Given the description of an element on the screen output the (x, y) to click on. 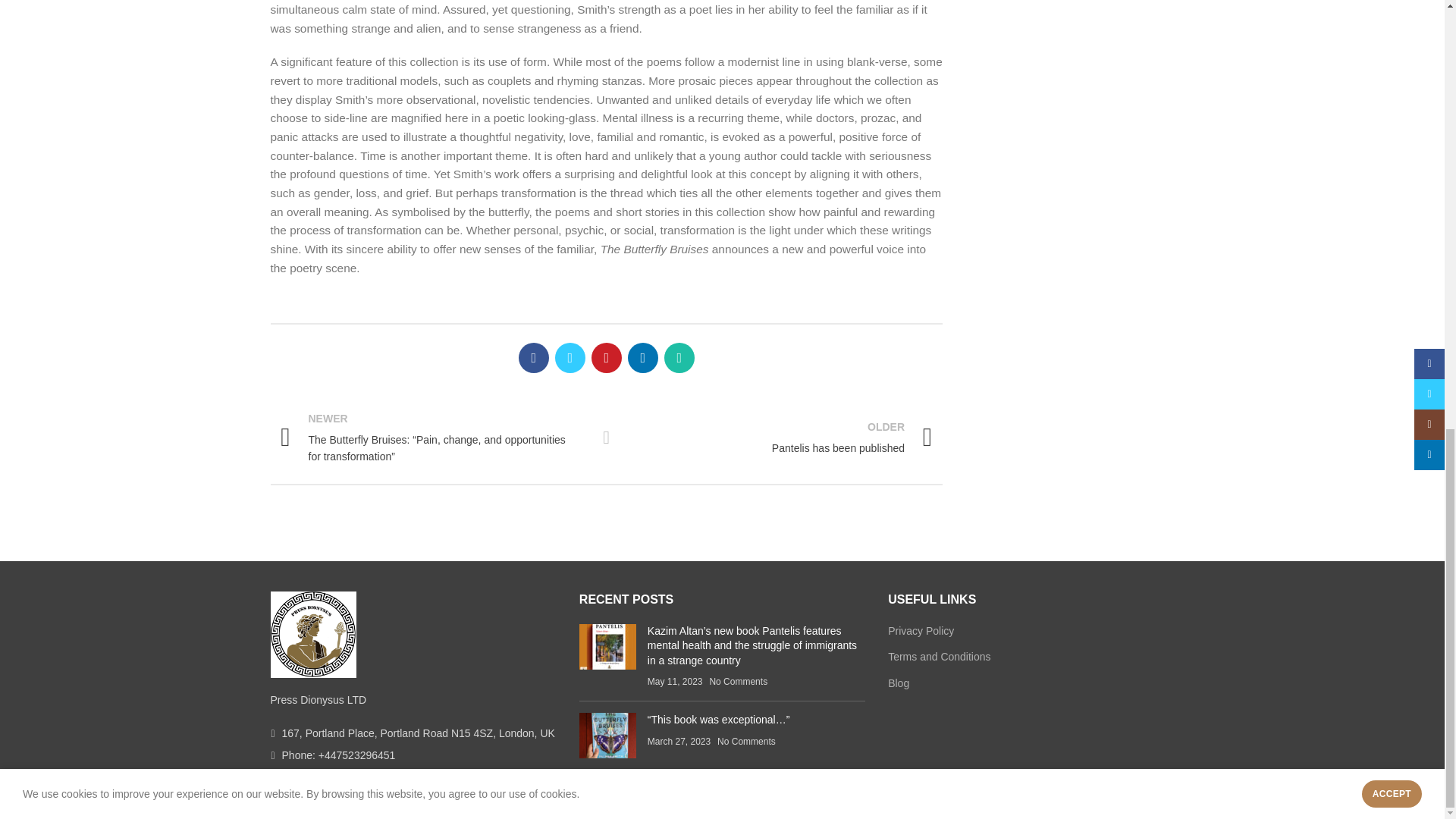
Pinterest (606, 358)
Back to list (606, 436)
Twitter (569, 358)
Facebook (779, 437)
linkedin (533, 358)
WhatsApp (642, 358)
